Given the description of an element on the screen output the (x, y) to click on. 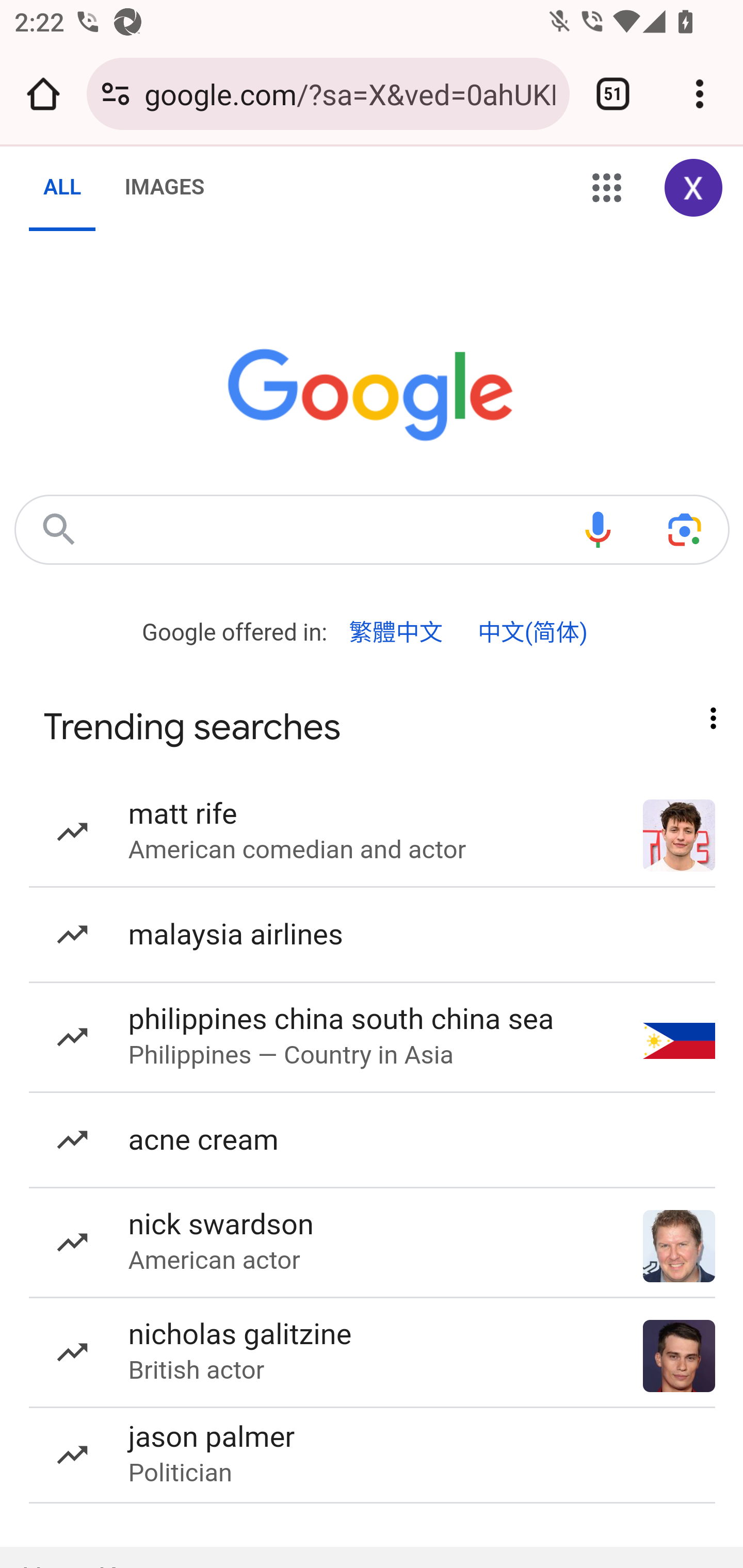
Open the home page (43, 93)
Connection is secure (115, 93)
Switch or close tabs (612, 93)
Customize and control Google Chrome (699, 93)
IMAGES (164, 188)
Google apps (607, 188)
Google Account: Xiaoran (zxrappiumtest@gmail.com) (694, 188)
Google Search (58, 528)
Search using your camera or photos (684, 528)
繁體中文 (395, 632)
中文(简体) (532, 632)
malaysia airlines (372, 934)
acne cream (372, 1140)
jason palmer Politician jason palmer Politician (372, 1454)
